Given the description of an element on the screen output the (x, y) to click on. 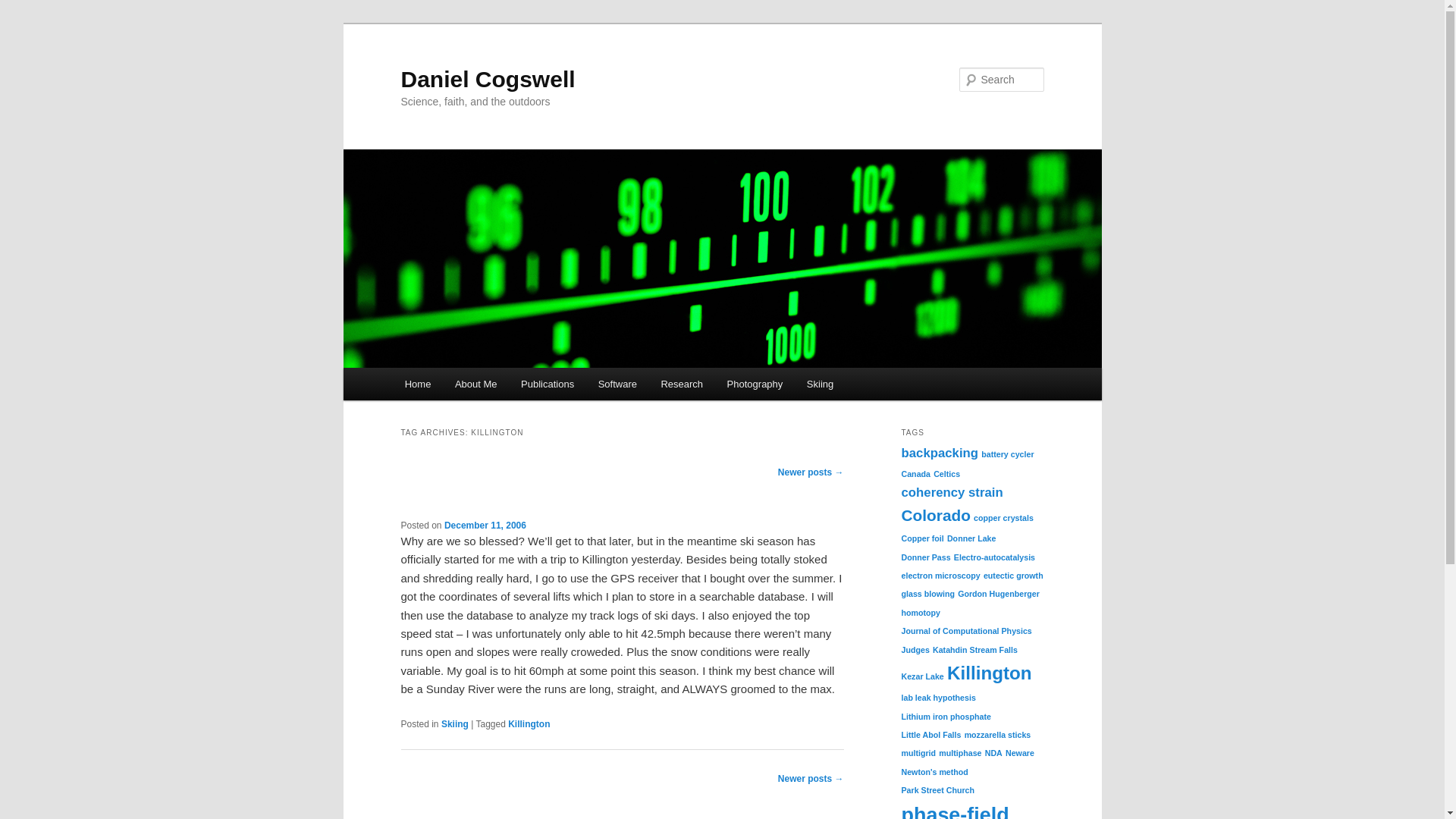
eutectic growth (1013, 574)
Killington (989, 672)
Donner Pass (925, 556)
December 11, 2006 (484, 525)
Judges (914, 648)
Celtics (946, 473)
electron microscopy (940, 574)
About Me (475, 383)
Publications (547, 383)
Software (617, 383)
